Given the description of an element on the screen output the (x, y) to click on. 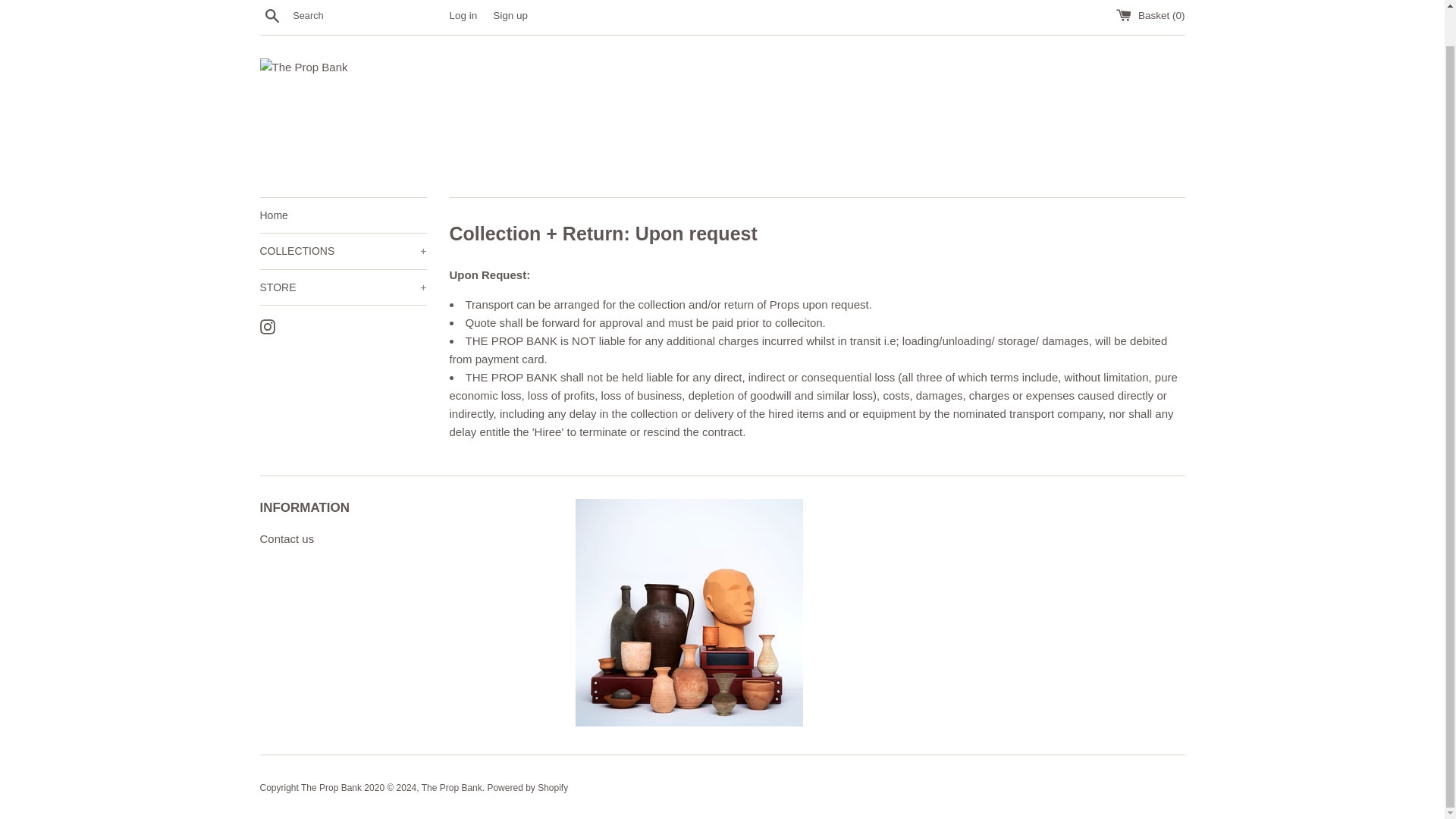
Home (342, 215)
Search (271, 14)
The Prop Bank on Instagram (267, 325)
Log in (462, 15)
Sign up (510, 15)
